Given the description of an element on the screen output the (x, y) to click on. 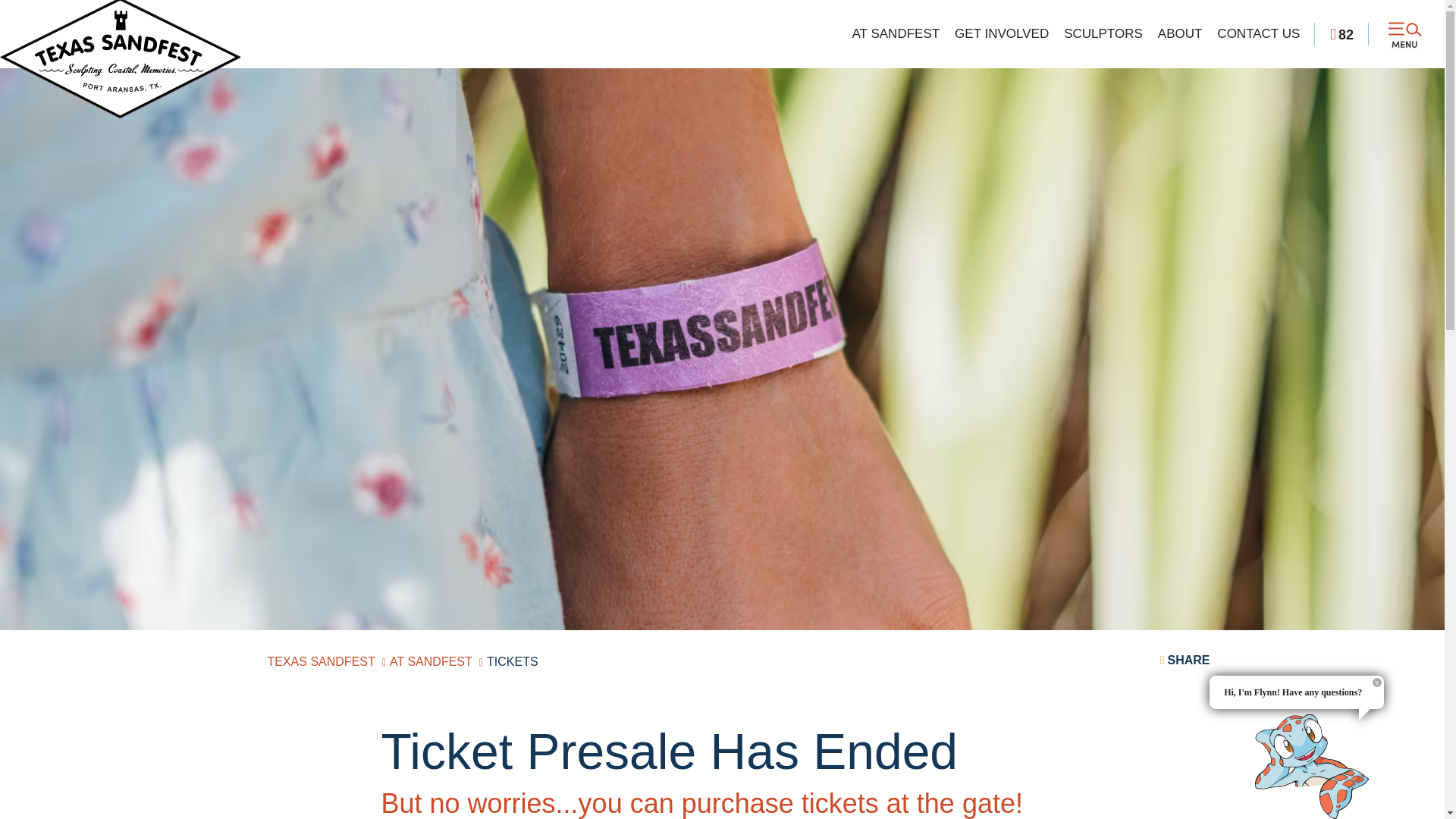
GET INVOLVED (1001, 34)
CONTACT US (1258, 34)
ABOUT (1179, 34)
AT SANDFEST (895, 34)
SCULPTORS (1103, 34)
82 (1342, 33)
